Given the description of an element on the screen output the (x, y) to click on. 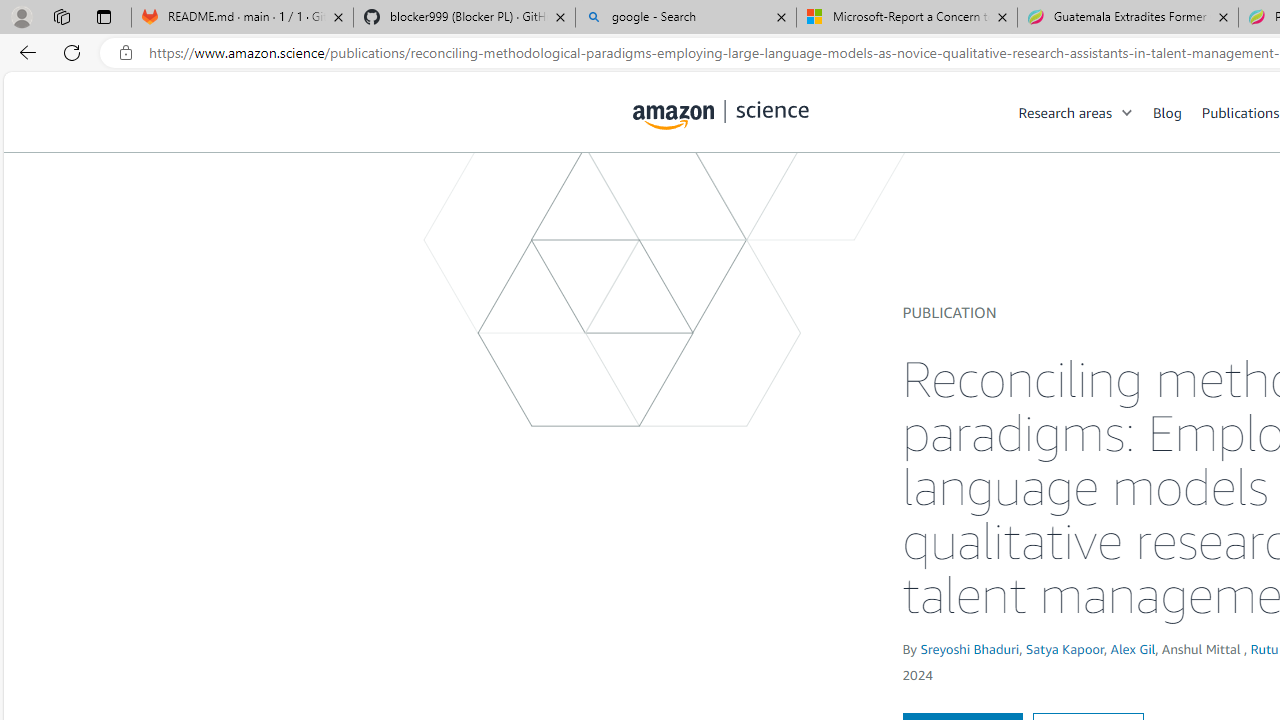
Blog (1167, 111)
Blog (1177, 111)
Publications (1240, 111)
Alex Gil (1132, 648)
Class: chevron (1128, 116)
